Given the description of an element on the screen output the (x, y) to click on. 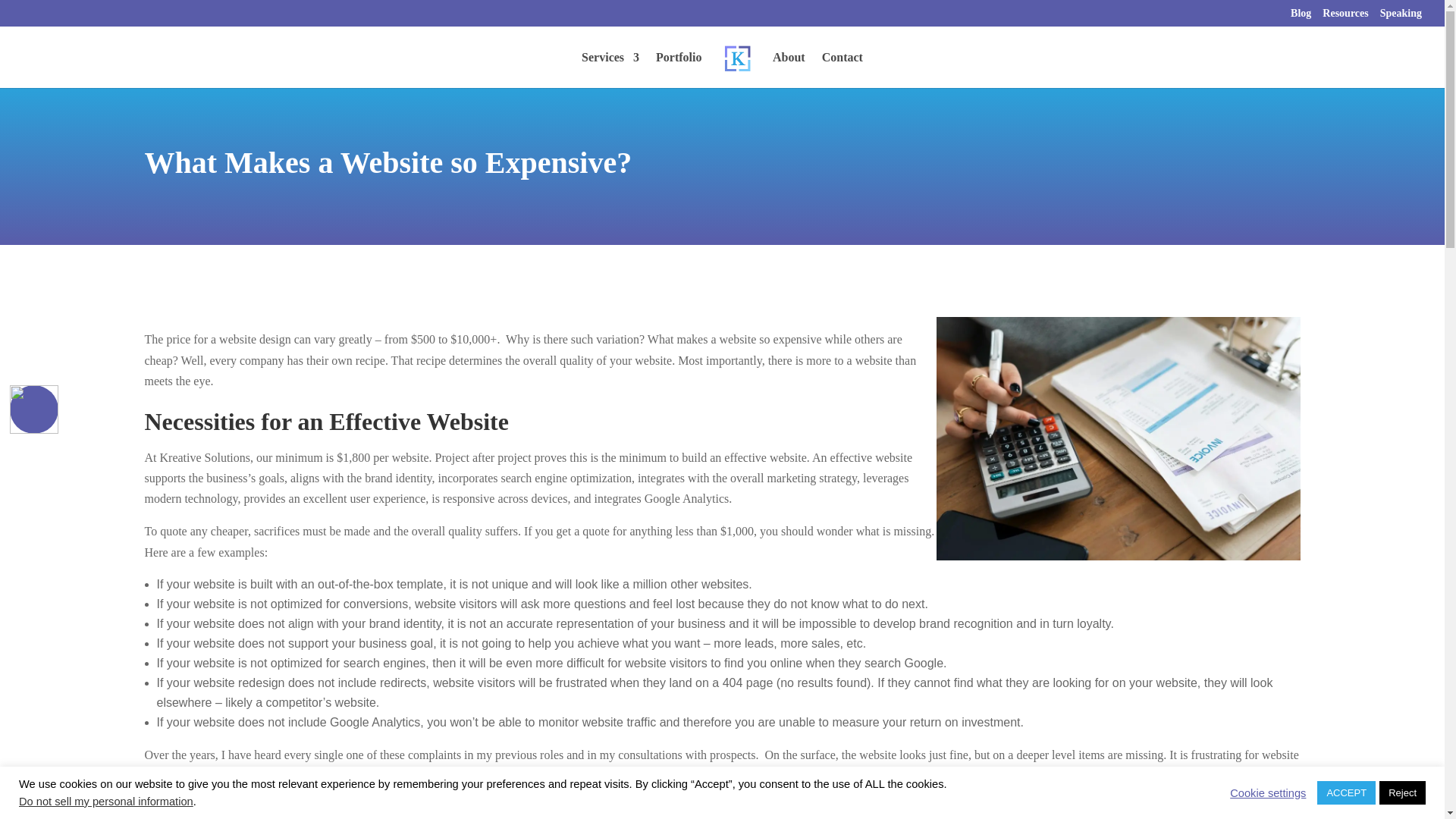
Speaking (1401, 16)
Blog (1300, 16)
Contact (842, 69)
Resources (1345, 16)
About (789, 69)
Services (609, 69)
Accessibility Menu (34, 409)
Portfolio (678, 69)
